Given the description of an element on the screen output the (x, y) to click on. 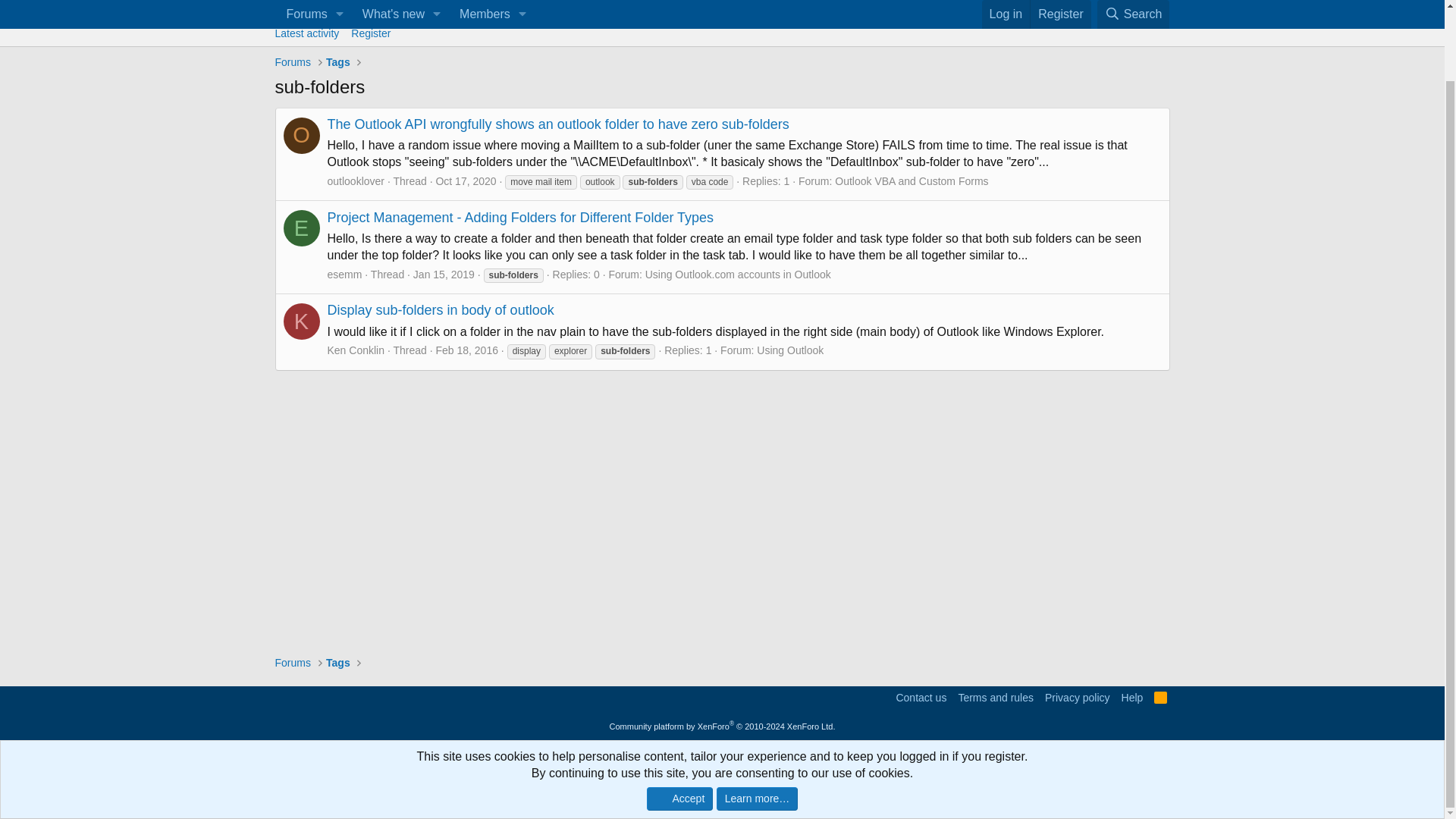
Oct 17, 2020 at 2:09 AM (465, 181)
Using Outlook.com accounts in Outlook (738, 274)
Forums (292, 62)
Register (720, 51)
Search (403, 11)
K (1059, 11)
Ken Conklin (1133, 11)
Log in (301, 321)
